Given the description of an element on the screen output the (x, y) to click on. 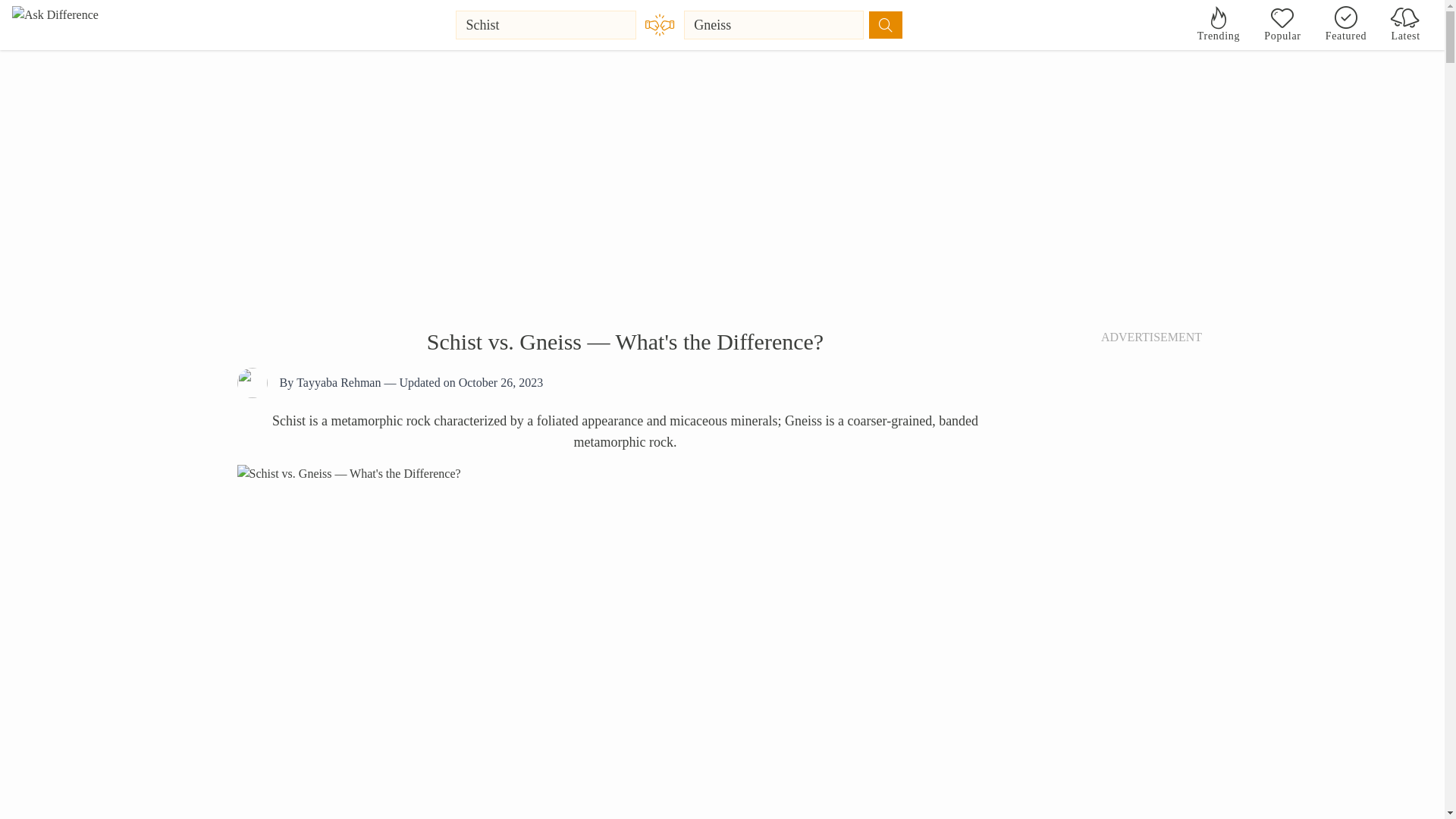
Popular (1282, 24)
Latest (1405, 24)
Tayyaba Rehman (338, 382)
Gneiss (773, 24)
Schist (545, 24)
Featured (1345, 24)
Trending (1218, 24)
